Given the description of an element on the screen output the (x, y) to click on. 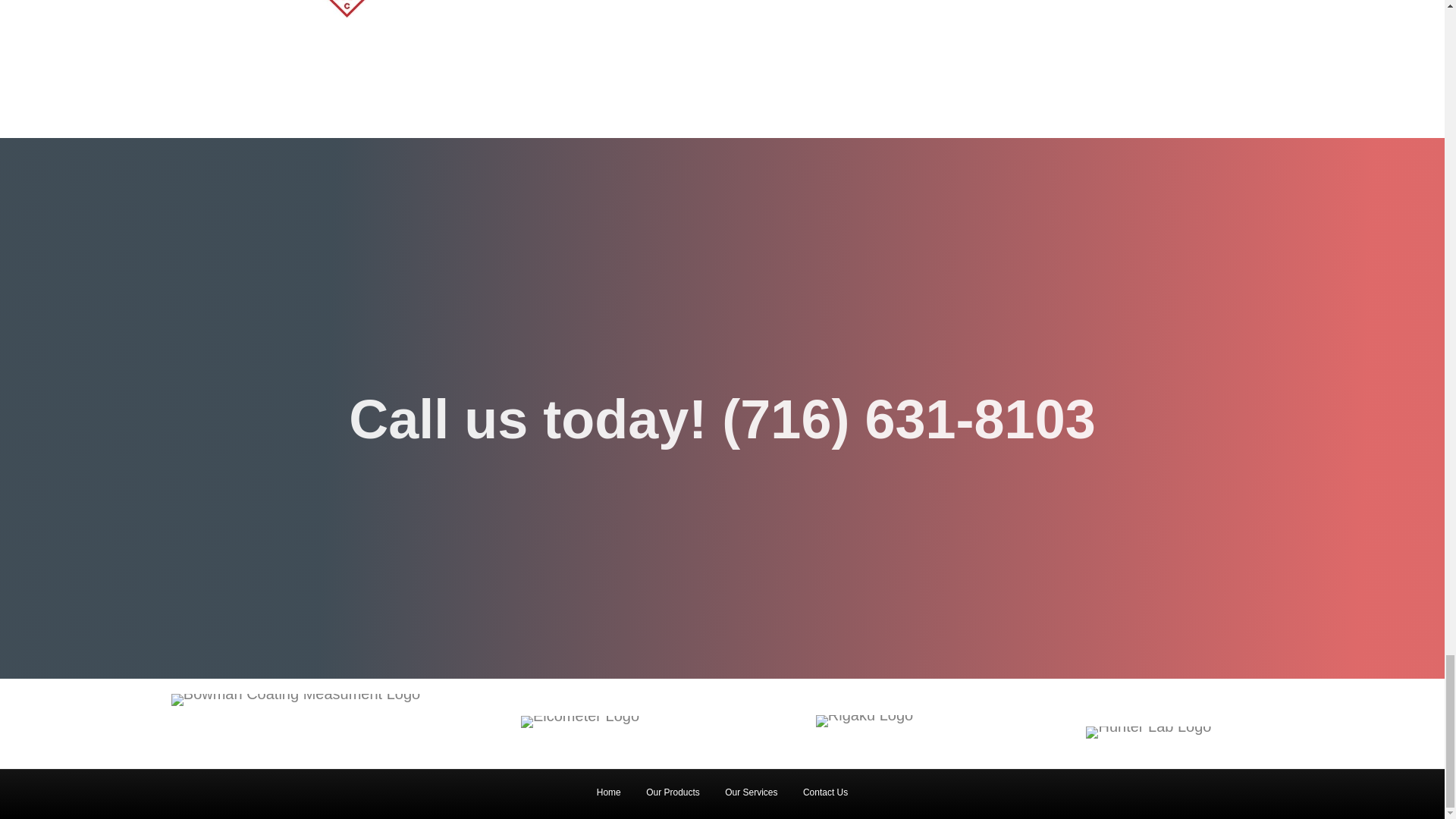
Bowman Coating Measument Logo (295, 699)
Contact Us (825, 797)
Our Products (672, 797)
Rigaku Logo (863, 720)
Our Services (751, 797)
Hunter Lab Logo (1148, 732)
Home (608, 797)
Elcometer Logo (580, 721)
